Given the description of an element on the screen output the (x, y) to click on. 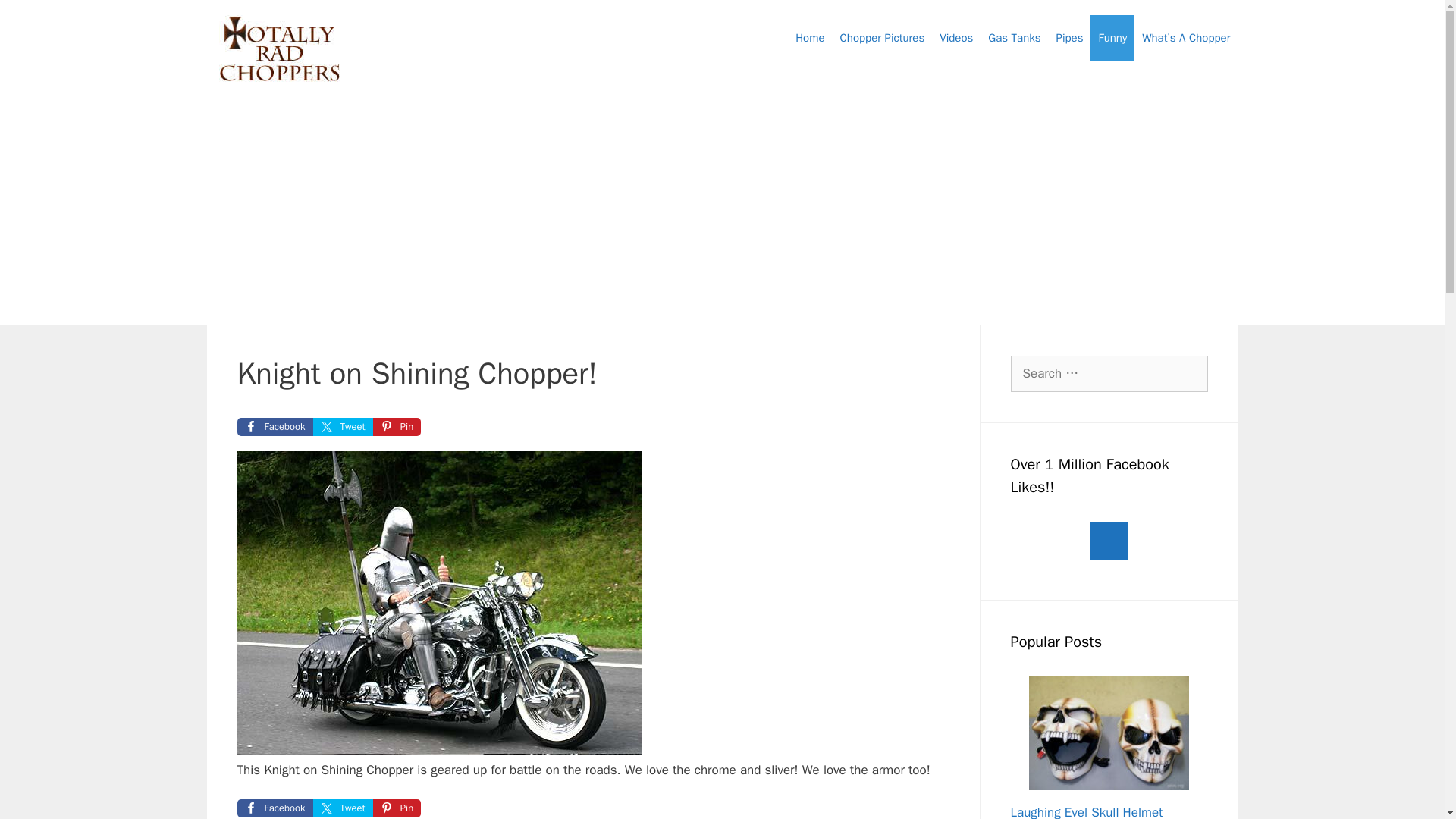
Facebook (274, 426)
Tweet (342, 808)
Search (35, 18)
Videos (955, 37)
Share on Facebook (274, 808)
Laughing Evel Skull Helmet (1085, 811)
Funny (1112, 37)
Facebook (274, 808)
Share on Twitter (342, 808)
Search for: (1108, 373)
